Given the description of an element on the screen output the (x, y) to click on. 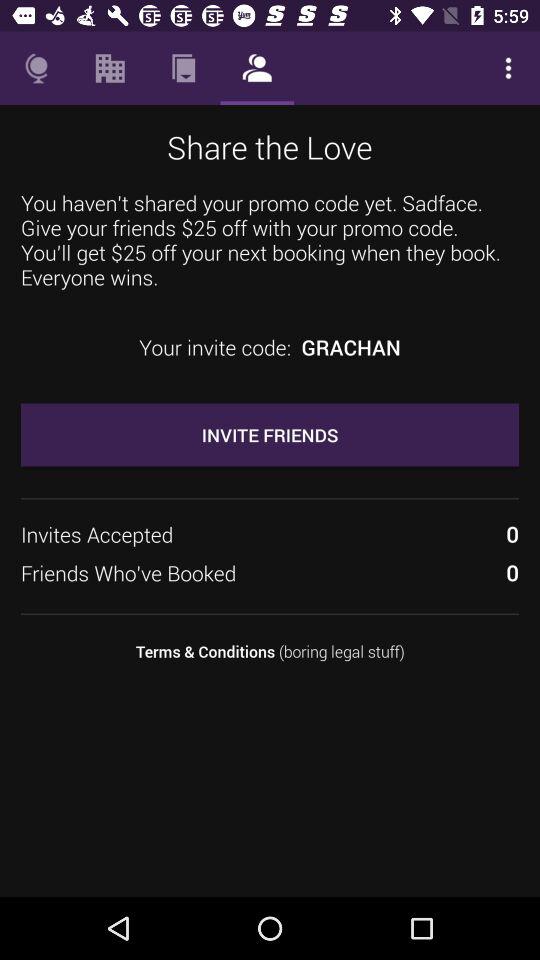
tap the item below you haven t item (350, 347)
